Given the description of an element on the screen output the (x, y) to click on. 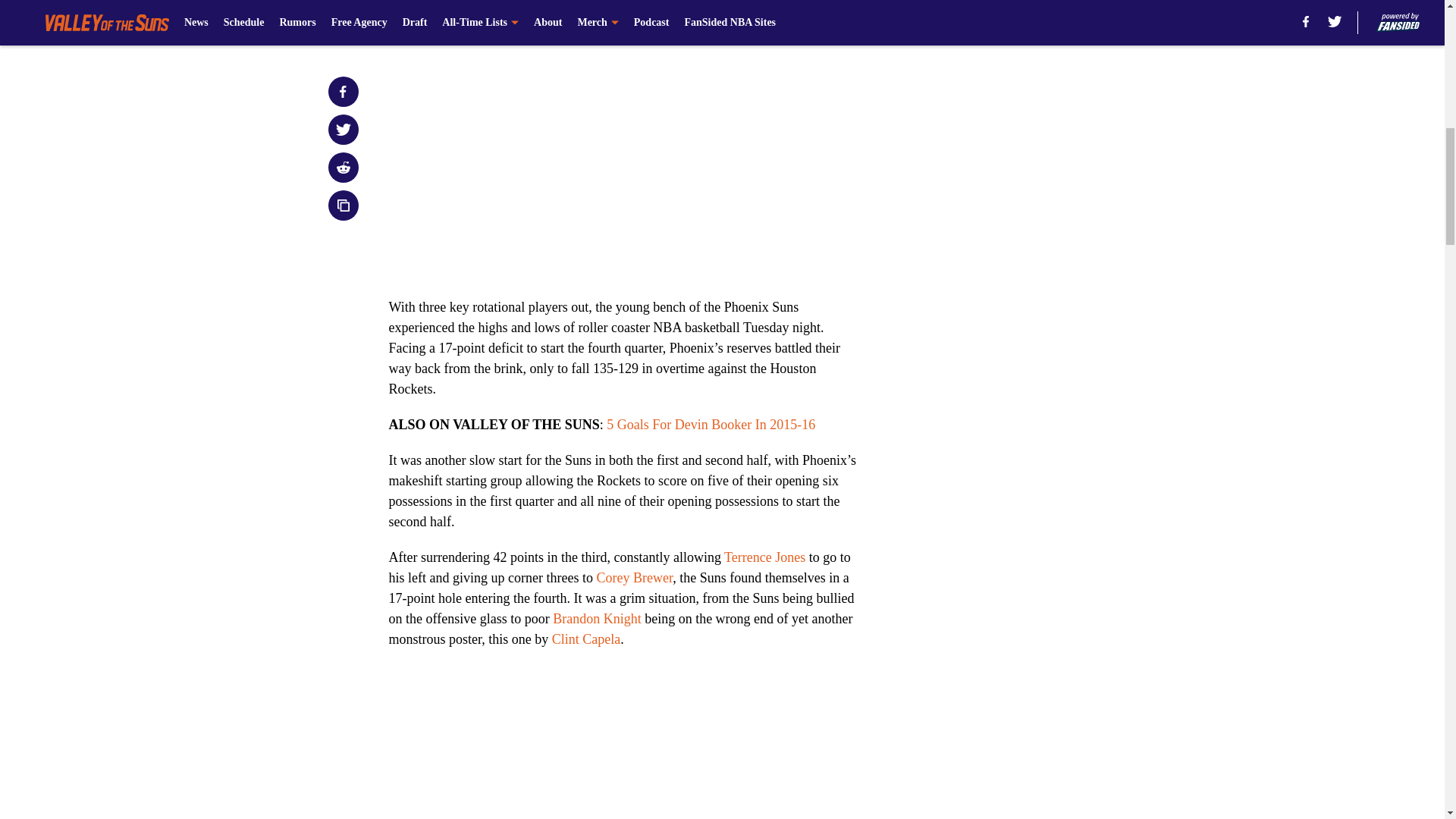
Brandon Knight (597, 618)
Clint Capela (585, 639)
5 Goals For Devin Booker In 2015-16 (711, 424)
Terrence Jones (764, 557)
Corey Brewer (633, 577)
